Given the description of an element on the screen output the (x, y) to click on. 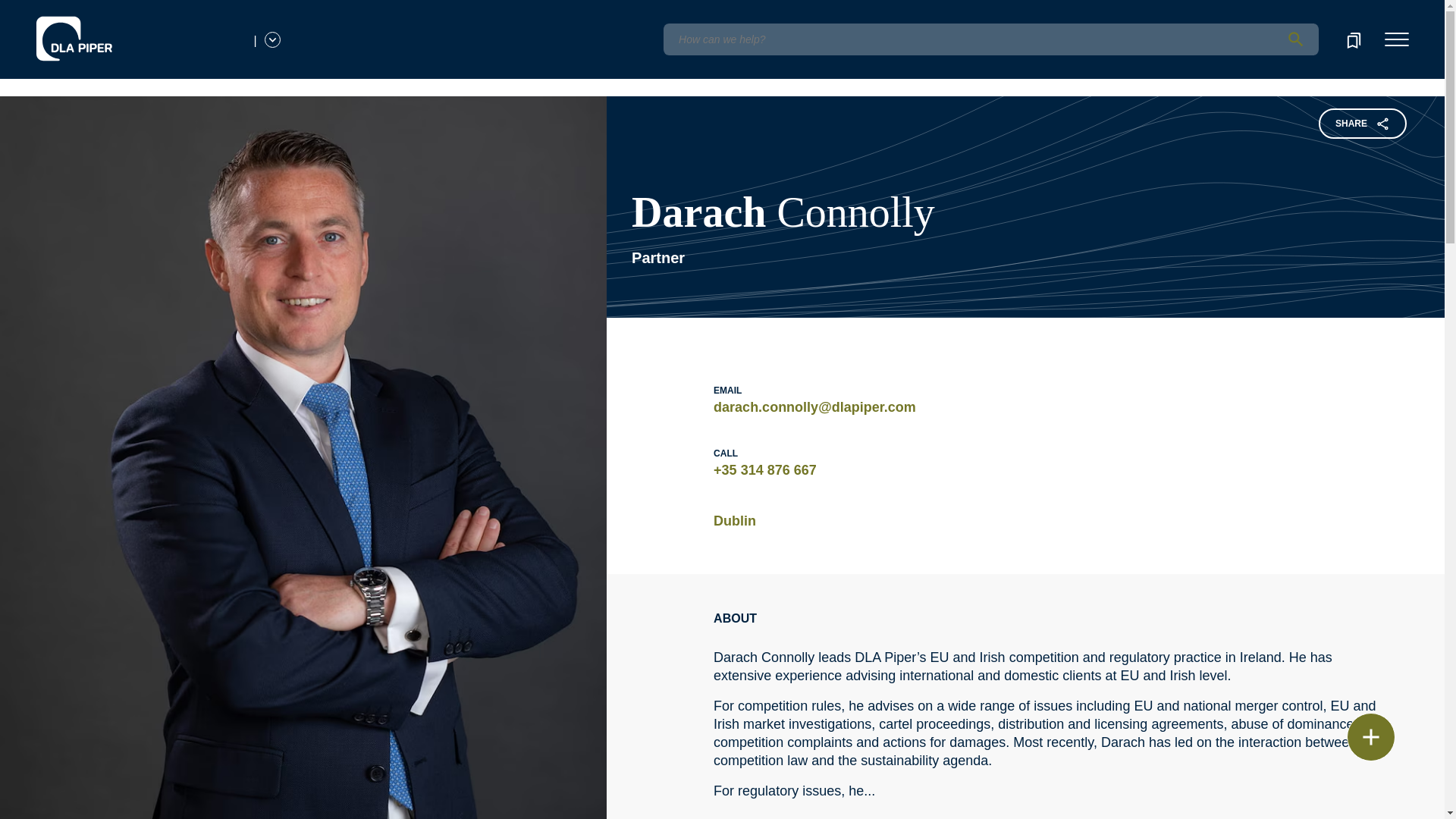
Insert a query. Press enter to send (990, 39)
Dublin (734, 520)
